Given the description of an element on the screen output the (x, y) to click on. 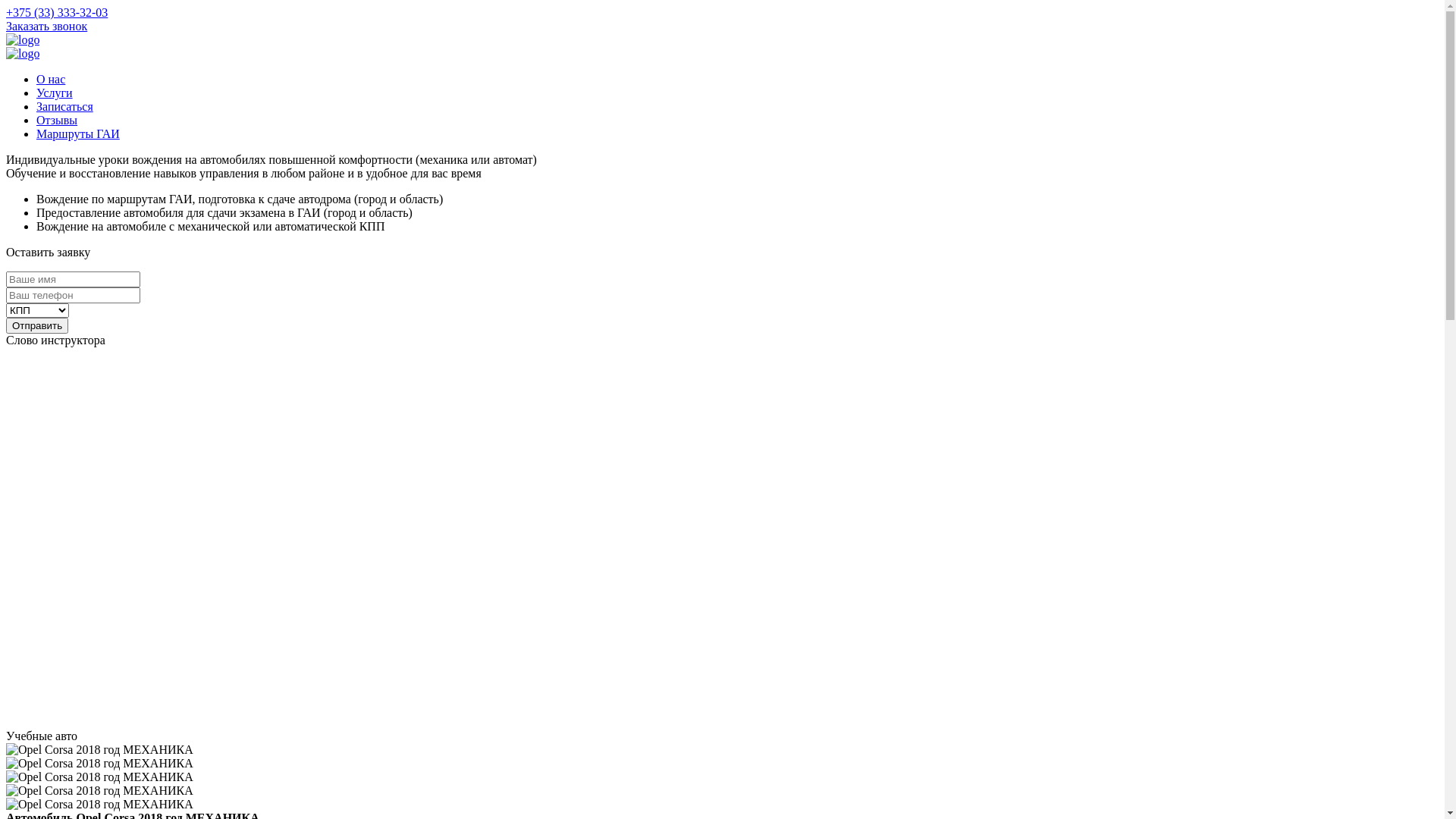
+375 (33) 333-32-03 Element type: text (56, 12)
